Given the description of an element on the screen output the (x, y) to click on. 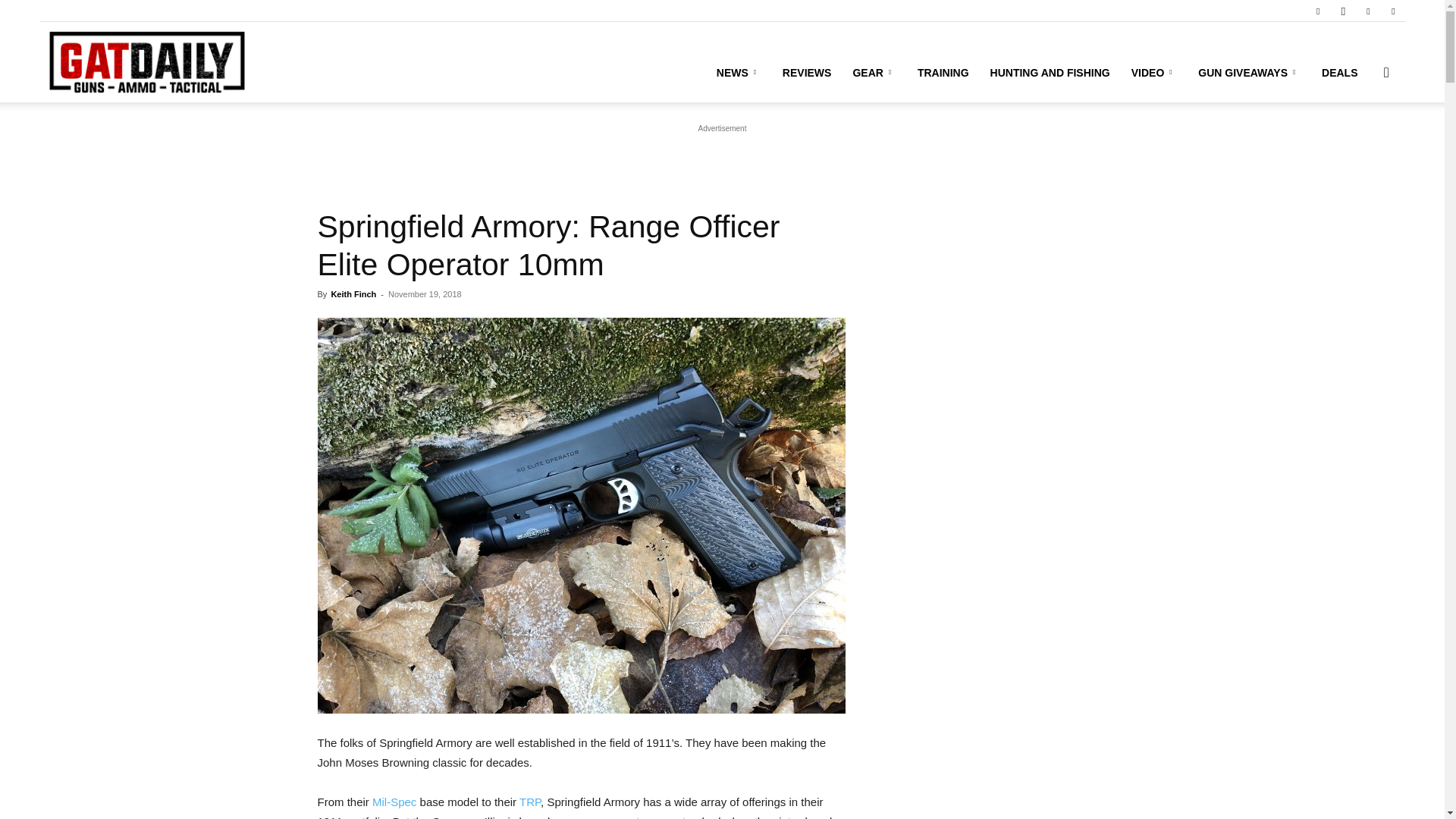
Twitter (1367, 10)
Search (1362, 144)
Youtube (1393, 10)
Instagram (1343, 10)
Guns Ammo Tactical Daily Gear Blog (146, 62)
3rd party ad content (721, 155)
Facebook (1317, 10)
